Given the description of an element on the screen output the (x, y) to click on. 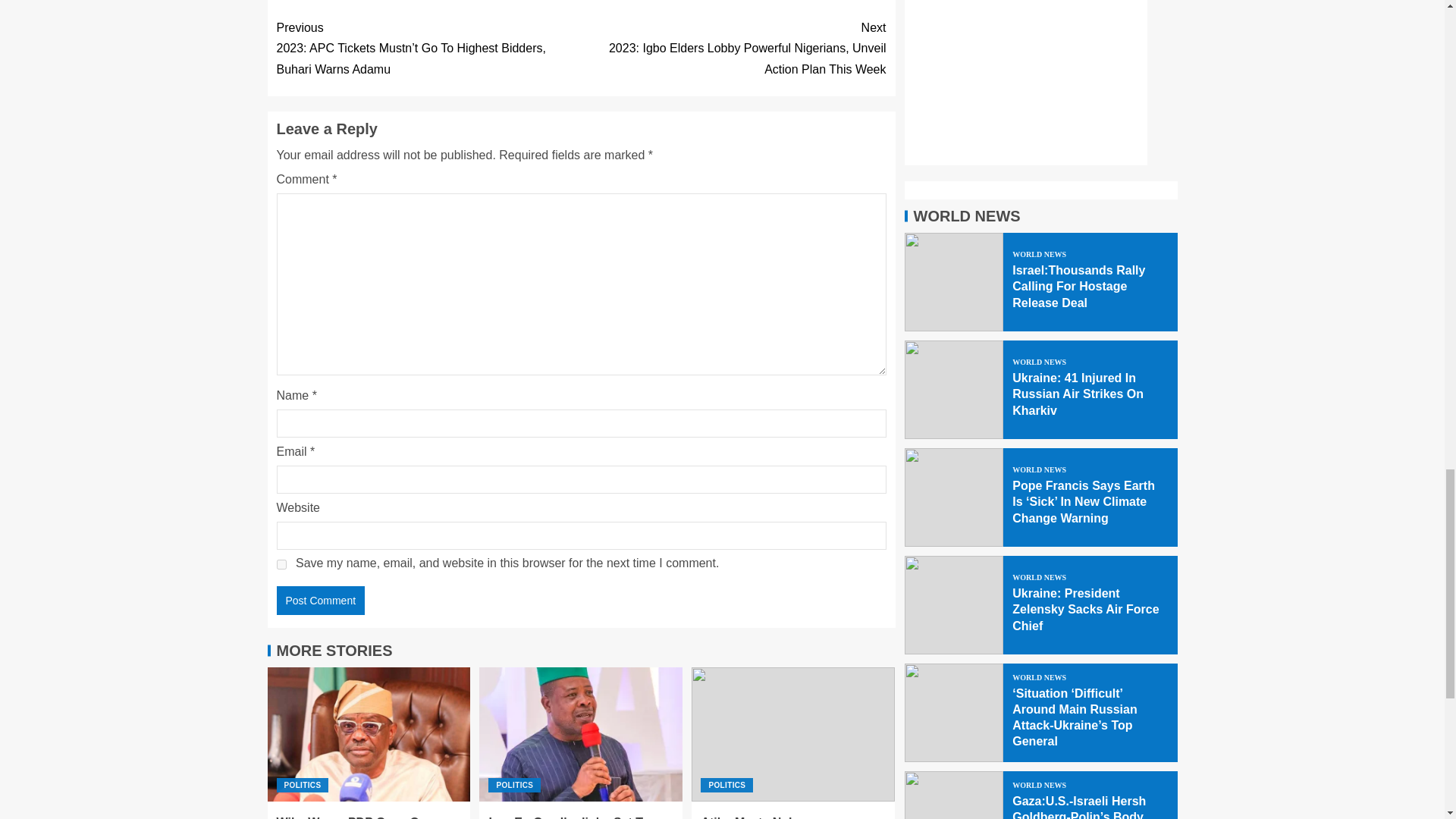
Wike Warns PDP Govs Over Dabbling In Rivers Party Crisis  (366, 817)
Post Comment (320, 600)
yes (280, 564)
Imo:Ex-Gov Ihedioha Set To Join LP After Dumping PDP (568, 817)
POLITICS (302, 785)
Post Comment (320, 600)
POLITICS (513, 785)
